Given the description of an element on the screen output the (x, y) to click on. 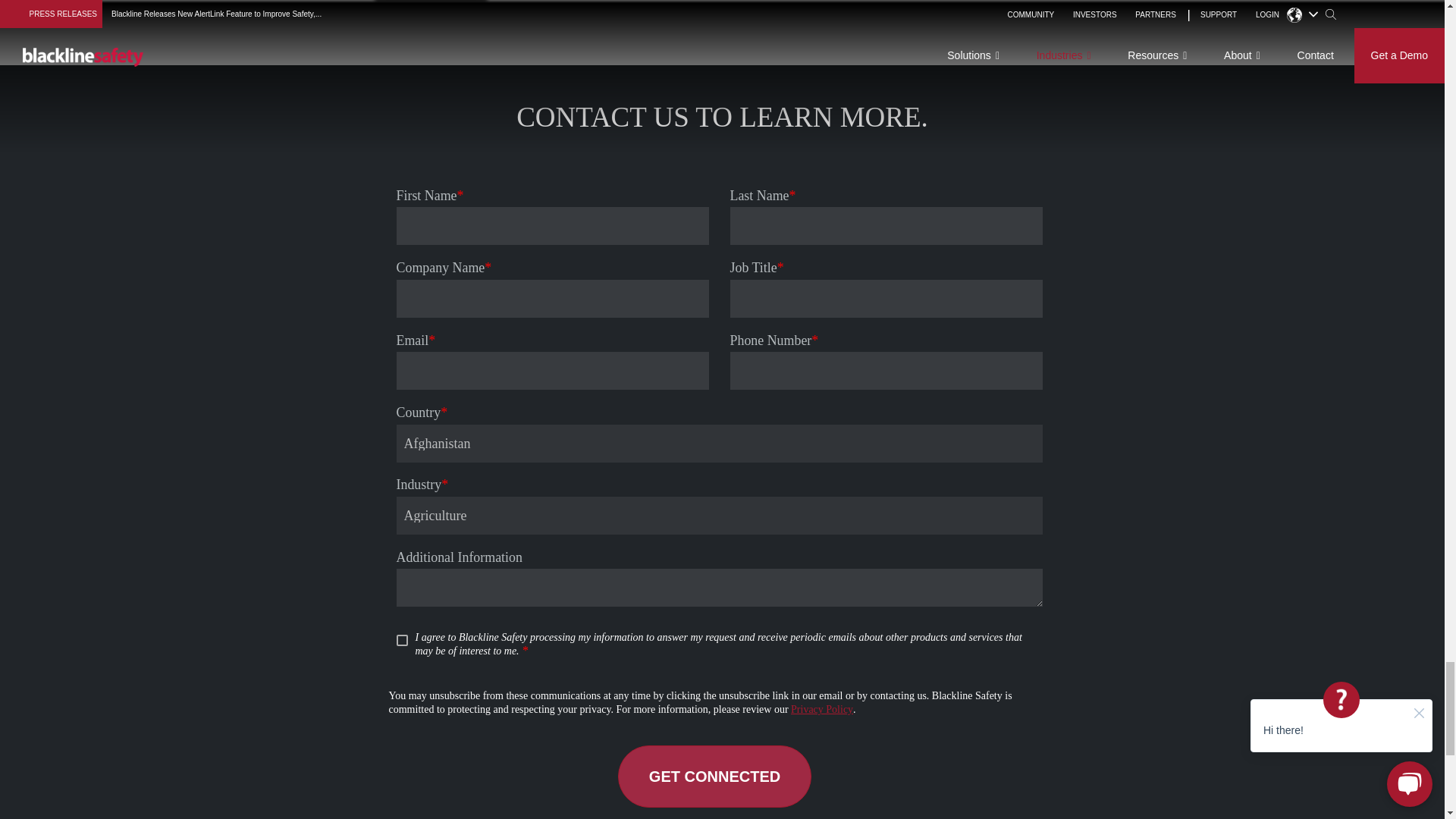
GET CONNECTED (713, 776)
